Given the description of an element on the screen output the (x, y) to click on. 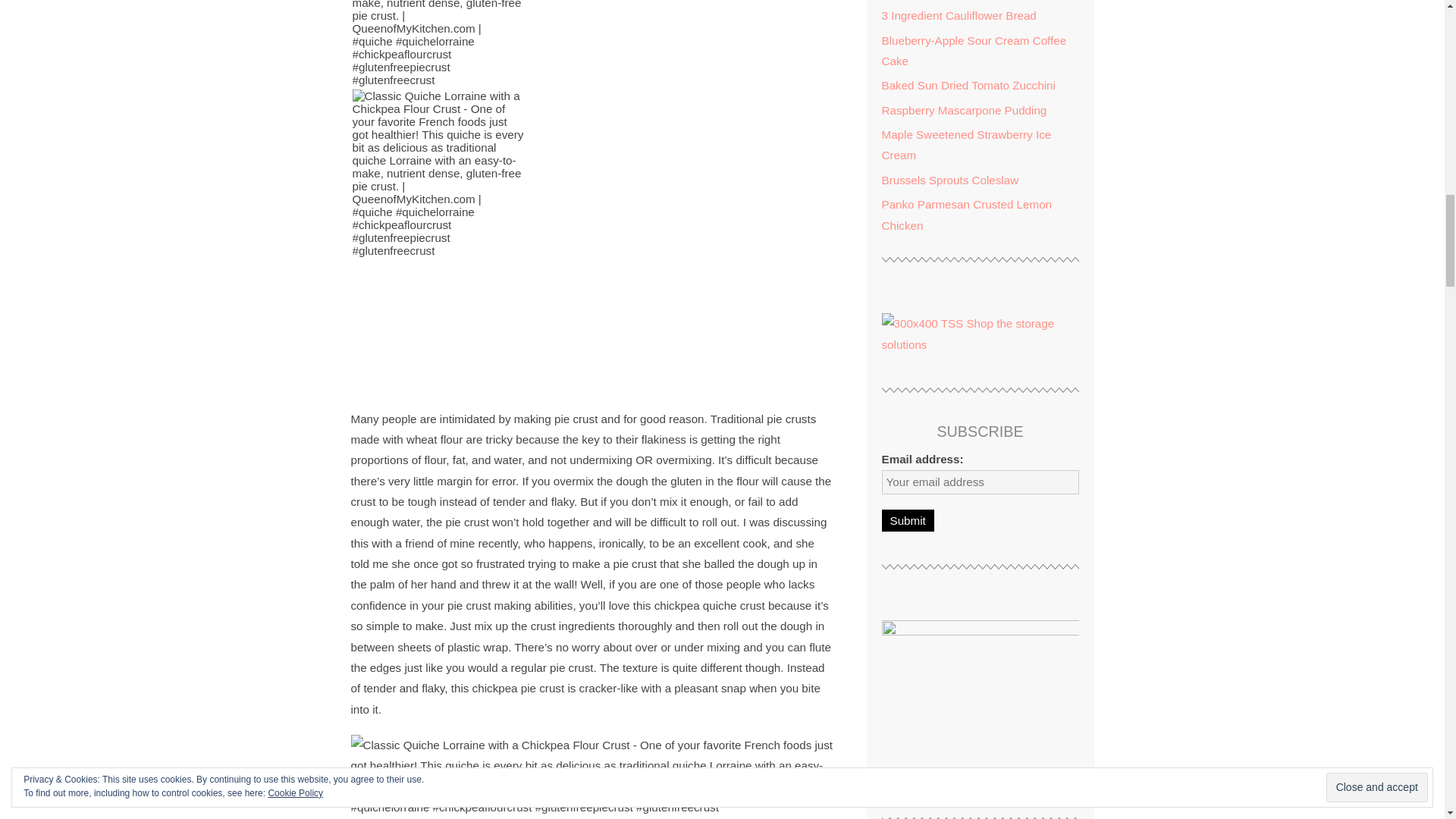
Submit (906, 520)
Classic Quiche Lorraine with Chickpea Flour Crust (438, 173)
Classic Quiche Lorraine with Chickpea Flour Crust (438, 43)
